Given the description of an element on the screen output the (x, y) to click on. 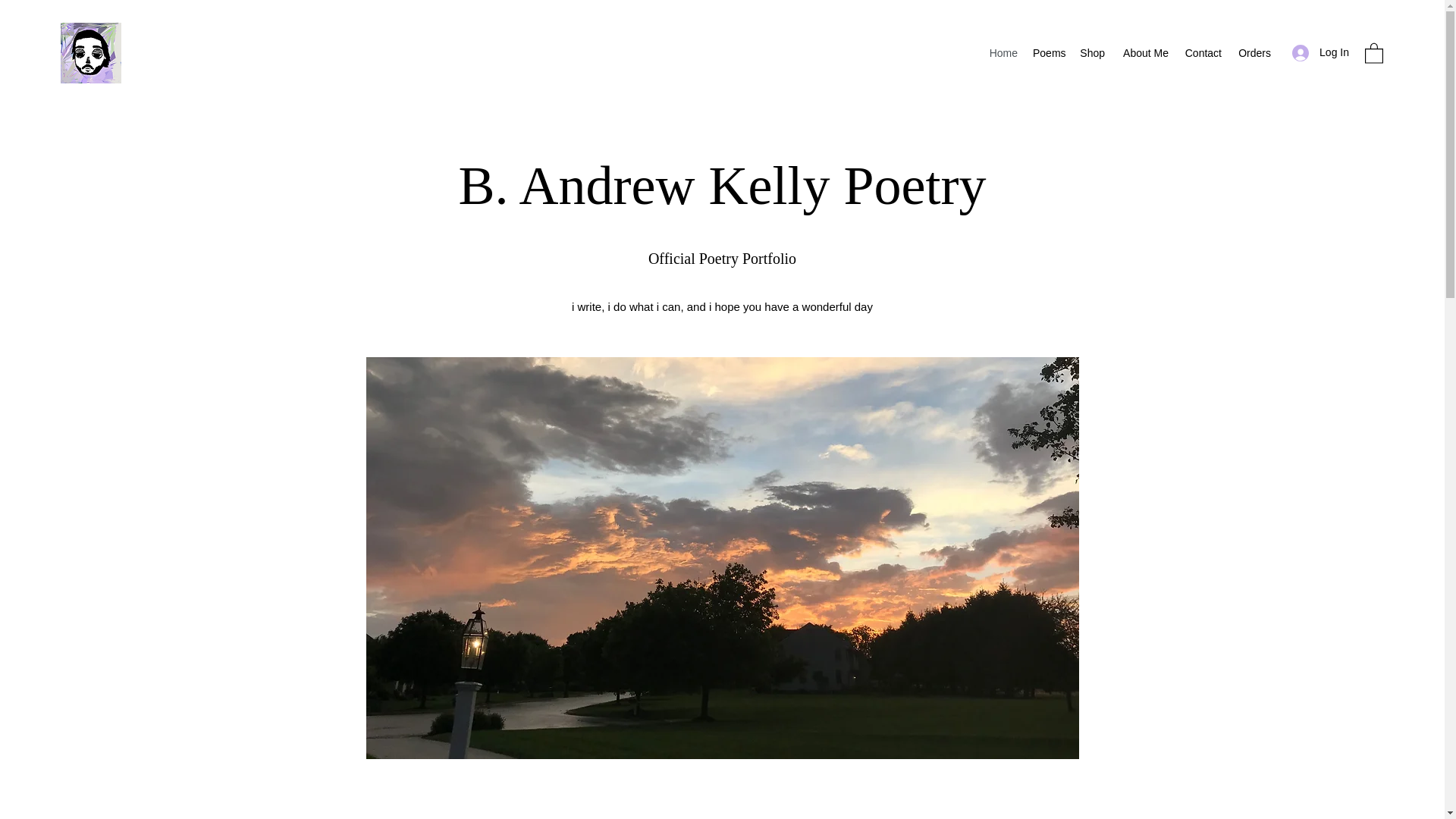
About Me (1144, 52)
Poems (1048, 52)
Log In (1320, 52)
Orders (1253, 52)
Shop (1091, 52)
Contact (1202, 52)
Home (1003, 52)
